Given the description of an element on the screen output the (x, y) to click on. 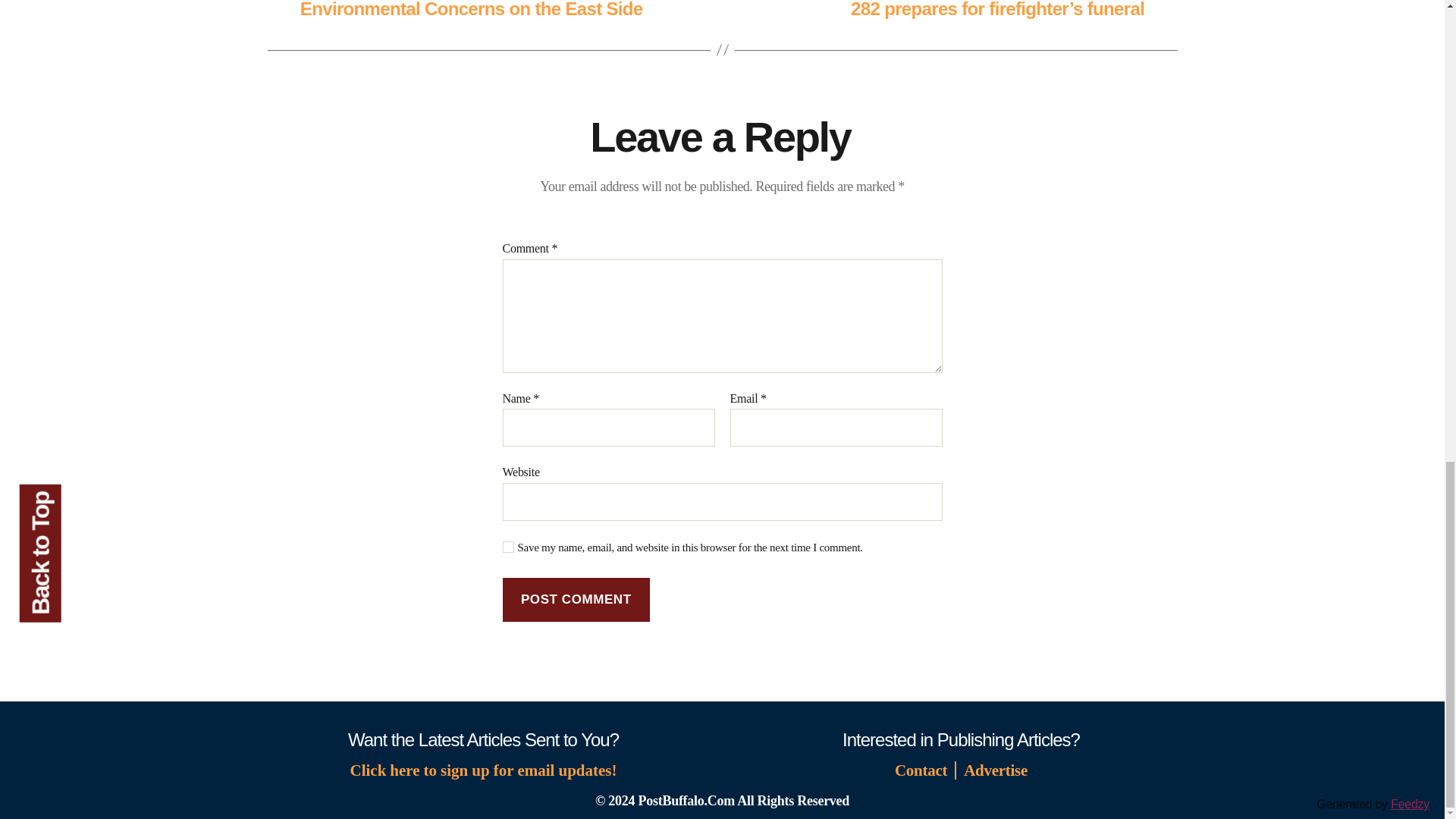
yes (507, 546)
Post Comment (575, 599)
